Given the description of an element on the screen output the (x, y) to click on. 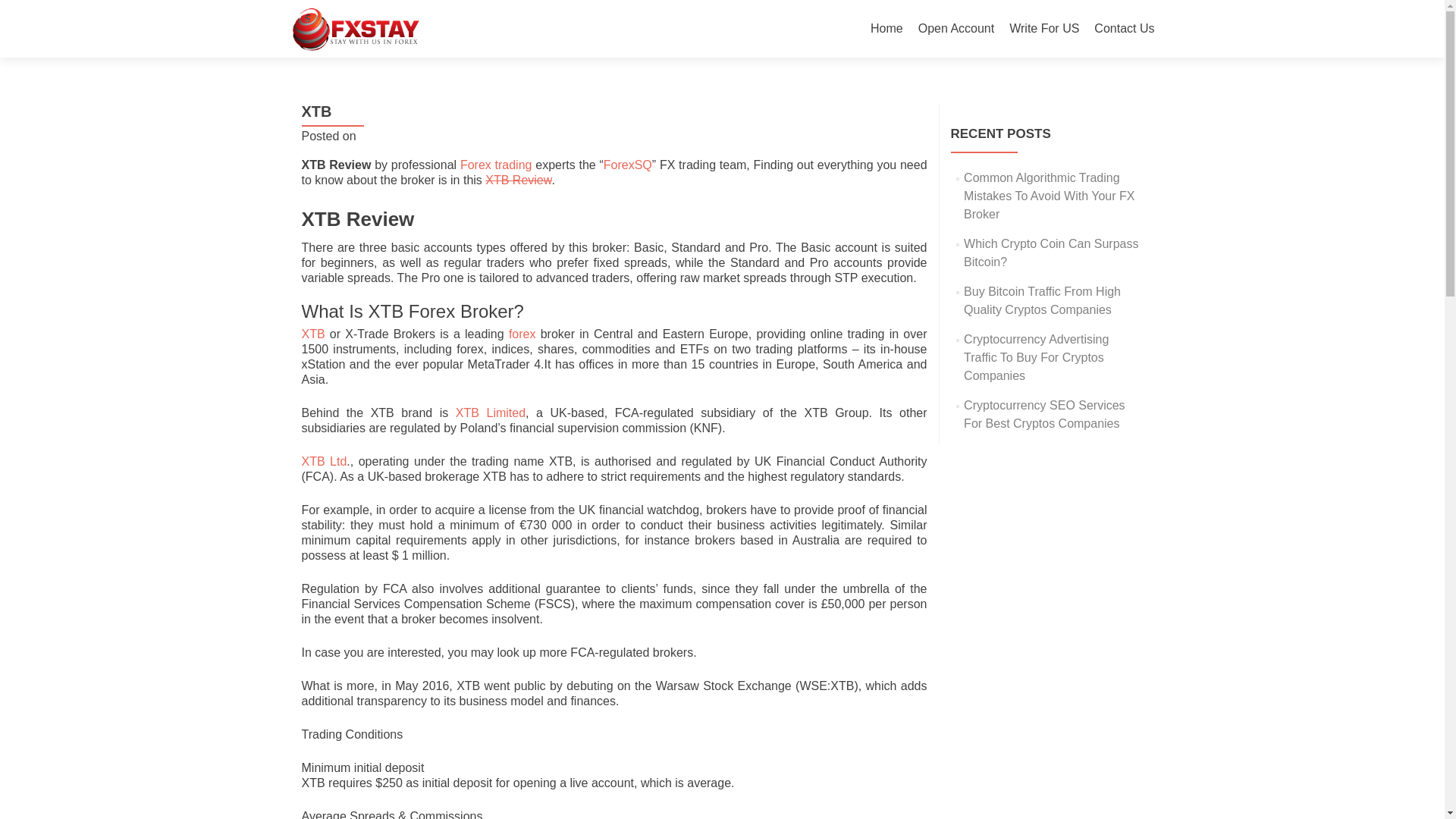
ForexSQ (628, 164)
Cryptocurrency SEO Services For Best Cryptos Companies (1044, 413)
Open Account (956, 28)
Which Crypto Coin Can Surpass Bitcoin? (1050, 252)
XTB Limited (490, 412)
XTB (312, 333)
Forex trading (496, 164)
Write For US (1043, 28)
forex (521, 333)
